Given the description of an element on the screen output the (x, y) to click on. 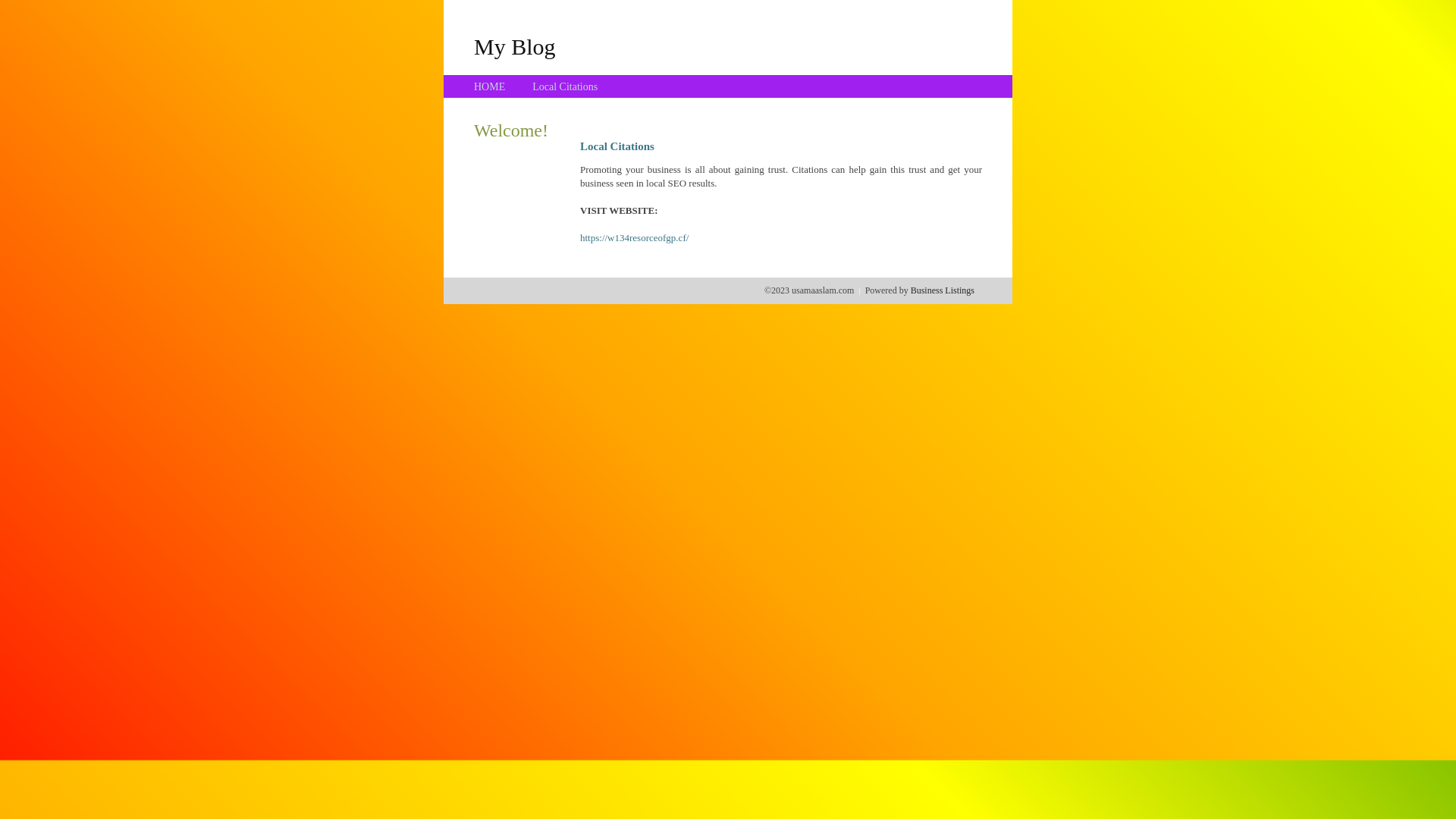
https://w134resorceofgp.cf/ Element type: text (634, 237)
My Blog Element type: text (514, 46)
Business Listings Element type: text (942, 290)
HOME Element type: text (489, 86)
Local Citations Element type: text (564, 86)
